Given the description of an element on the screen output the (x, y) to click on. 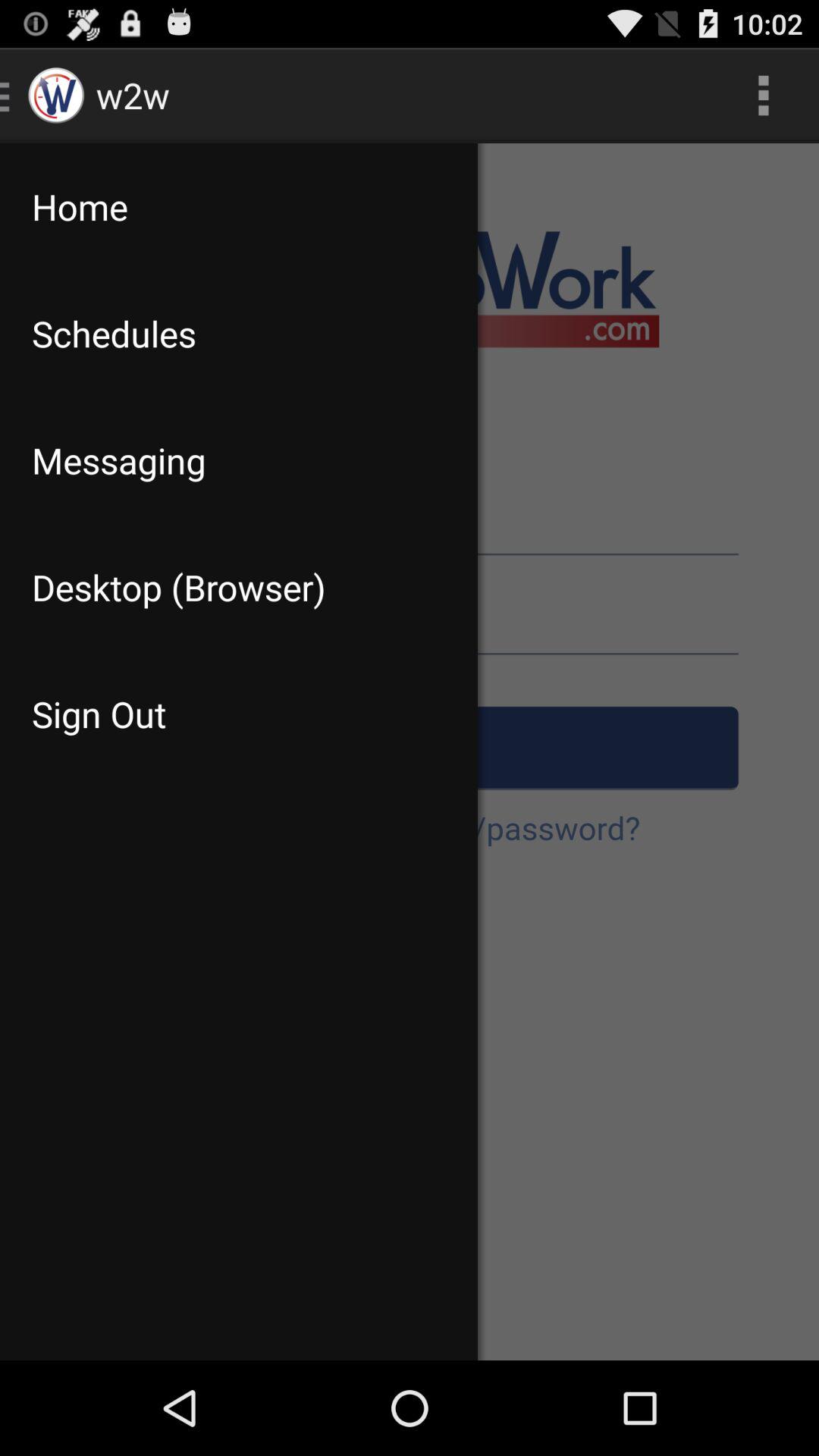
open the icon next to home item (763, 95)
